Given the description of an element on the screen output the (x, y) to click on. 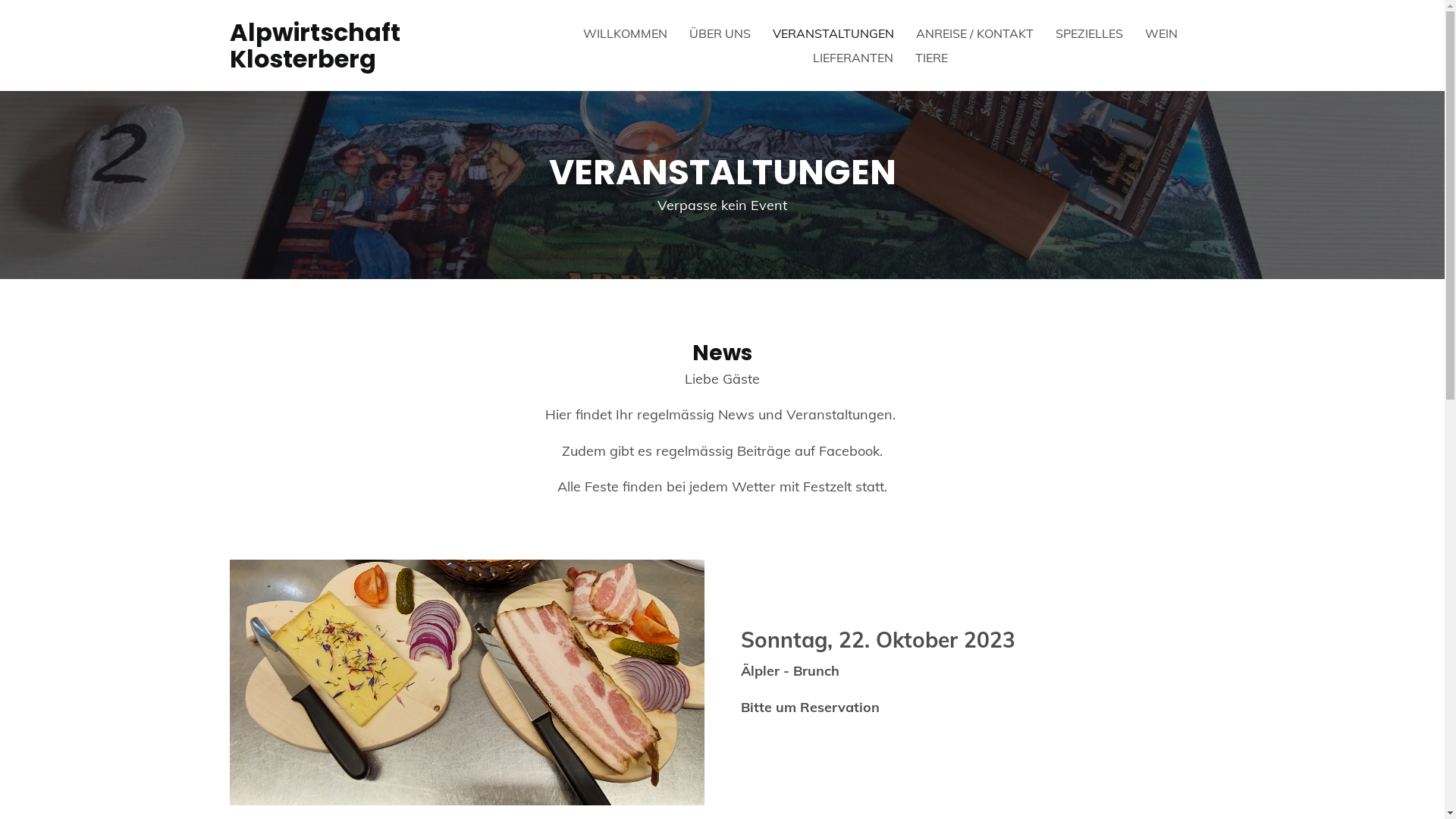
ANREISE / KONTAKT Element type: text (974, 33)
Alpwirtschaft Klosterberg Element type: text (314, 45)
VERANSTALTUNGEN Element type: text (833, 33)
LIEFERANTEN Element type: text (852, 57)
TIERE Element type: text (931, 57)
WILLKOMMEN Element type: text (625, 33)
WEIN Element type: text (1160, 33)
SPEZIELLES Element type: text (1089, 33)
